Given the description of an element on the screen output the (x, y) to click on. 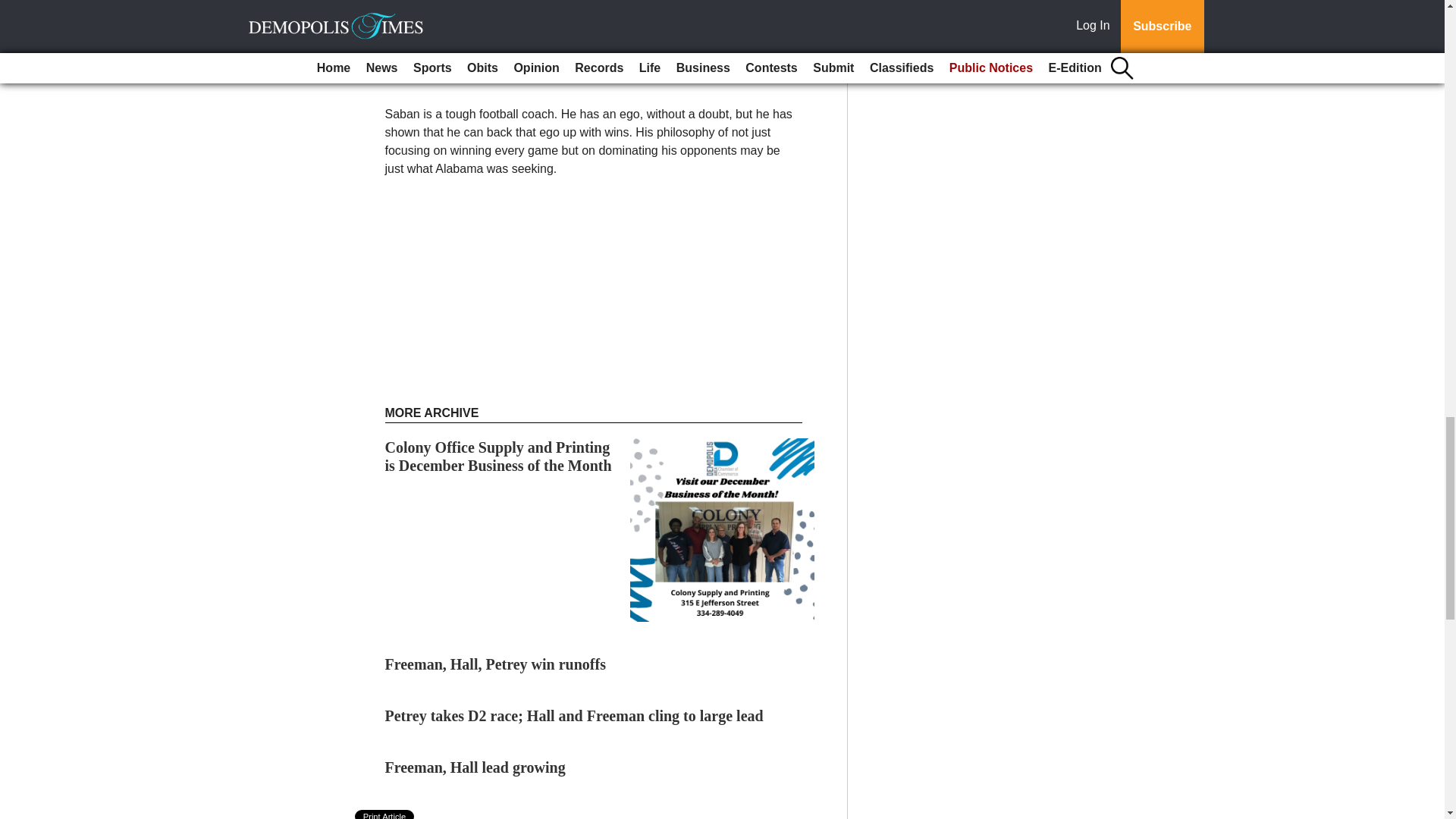
Petrey takes D2 race; Hall and Freeman cling to large lead (573, 715)
Freeman, Hall lead growing (475, 767)
Freeman, Hall lead growing (475, 767)
Print Article (384, 814)
Freeman, Hall, Petrey win runoffs (495, 664)
Freeman, Hall, Petrey win runoffs (495, 664)
Petrey takes D2 race; Hall and Freeman cling to large lead (573, 715)
